Given the description of an element on the screen output the (x, y) to click on. 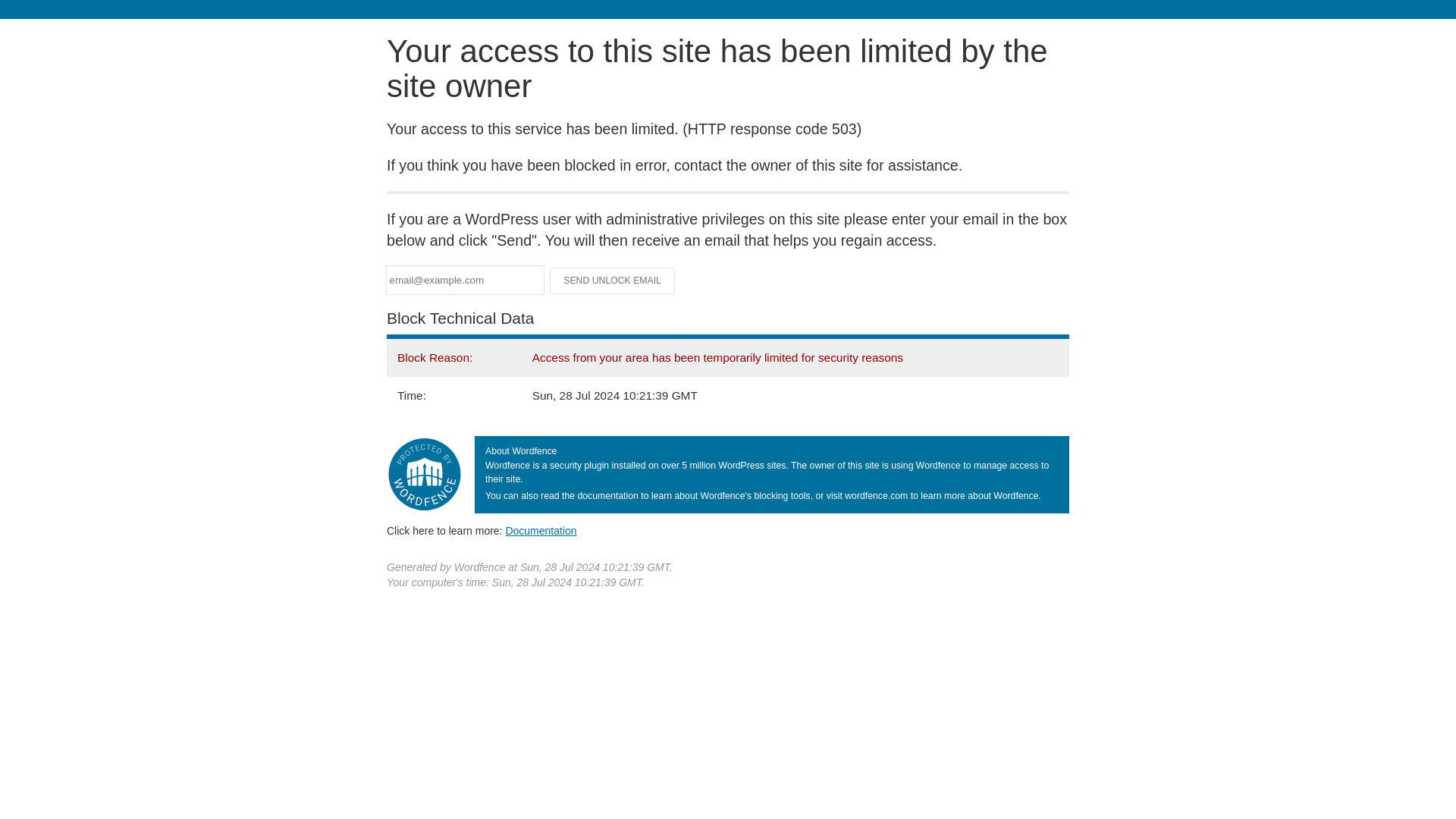
Send Unlock Email (612, 280)
Send Unlock Email (612, 280)
